Given the description of an element on the screen output the (x, y) to click on. 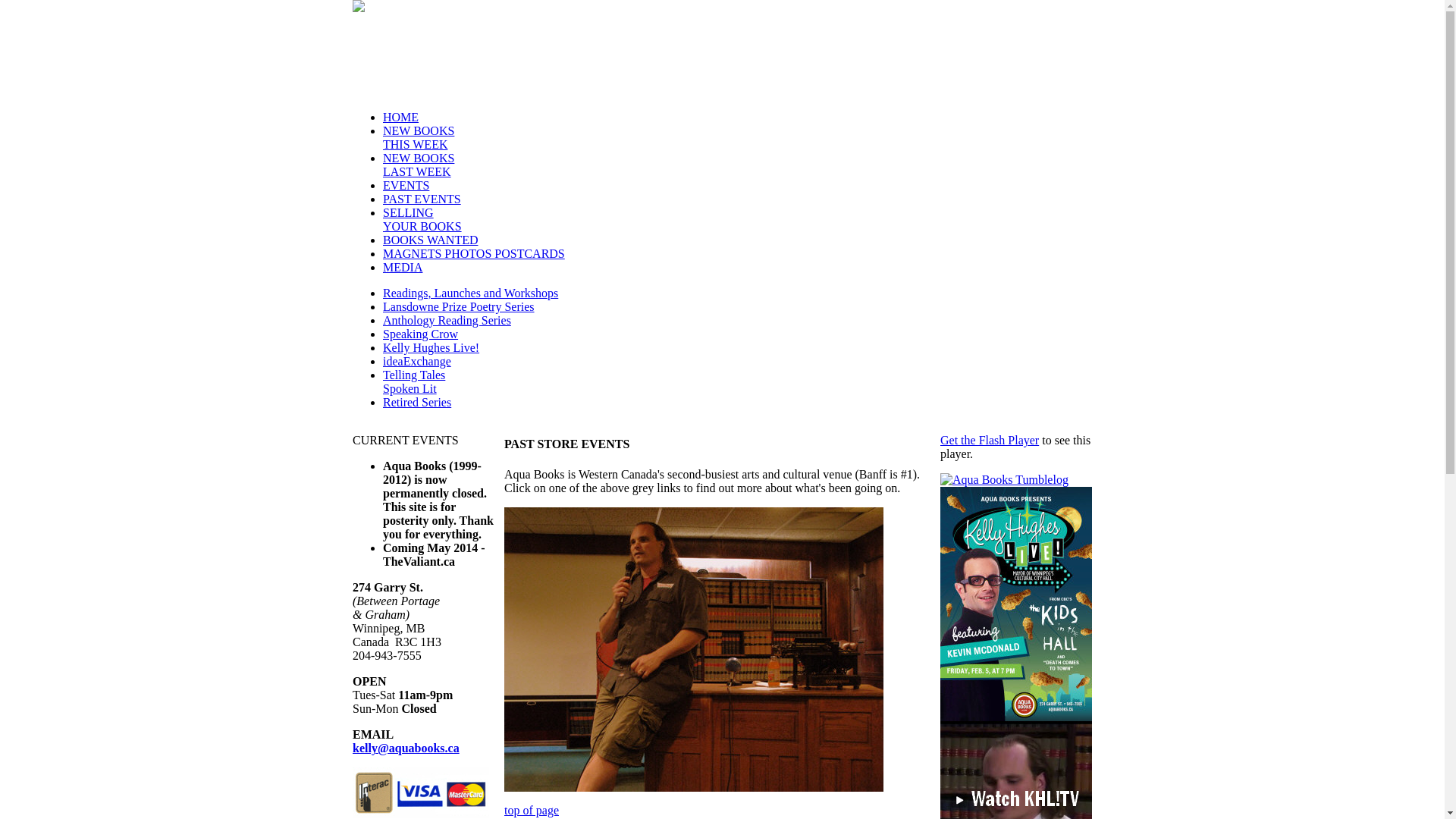
SELLING
YOUR BOOKS Element type: text (421, 219)
NEW BOOKS
LAST WEEK Element type: text (418, 164)
top of page Element type: text (531, 809)
HOME Element type: text (400, 116)
NEW BOOKS
THIS WEEK Element type: text (418, 137)
Readings, Launches and Workshops Element type: text (470, 292)
Get the Flash Player Element type: text (989, 439)
kelly@aquabooks.ca Element type: text (405, 747)
ideaExchange Element type: text (416, 360)
Anthology Reading Series Element type: text (446, 319)
Lansdowne Prize Poetry Series Element type: text (458, 306)
MEDIA Element type: text (402, 266)
Speaking Crow Element type: text (420, 333)
EVENTS Element type: text (405, 184)
MAGNETS PHOTOS POSTCARDS Element type: text (473, 253)
Retired Series Element type: text (416, 401)
Kelly Hughes Live! Element type: text (430, 347)
BOOKS WANTED Element type: text (429, 239)
Telling Tales
Spoken Lit Element type: text (413, 381)
PAST EVENTS Element type: text (421, 198)
home Element type: hover (358, 7)
